Given the description of an element on the screen output the (x, y) to click on. 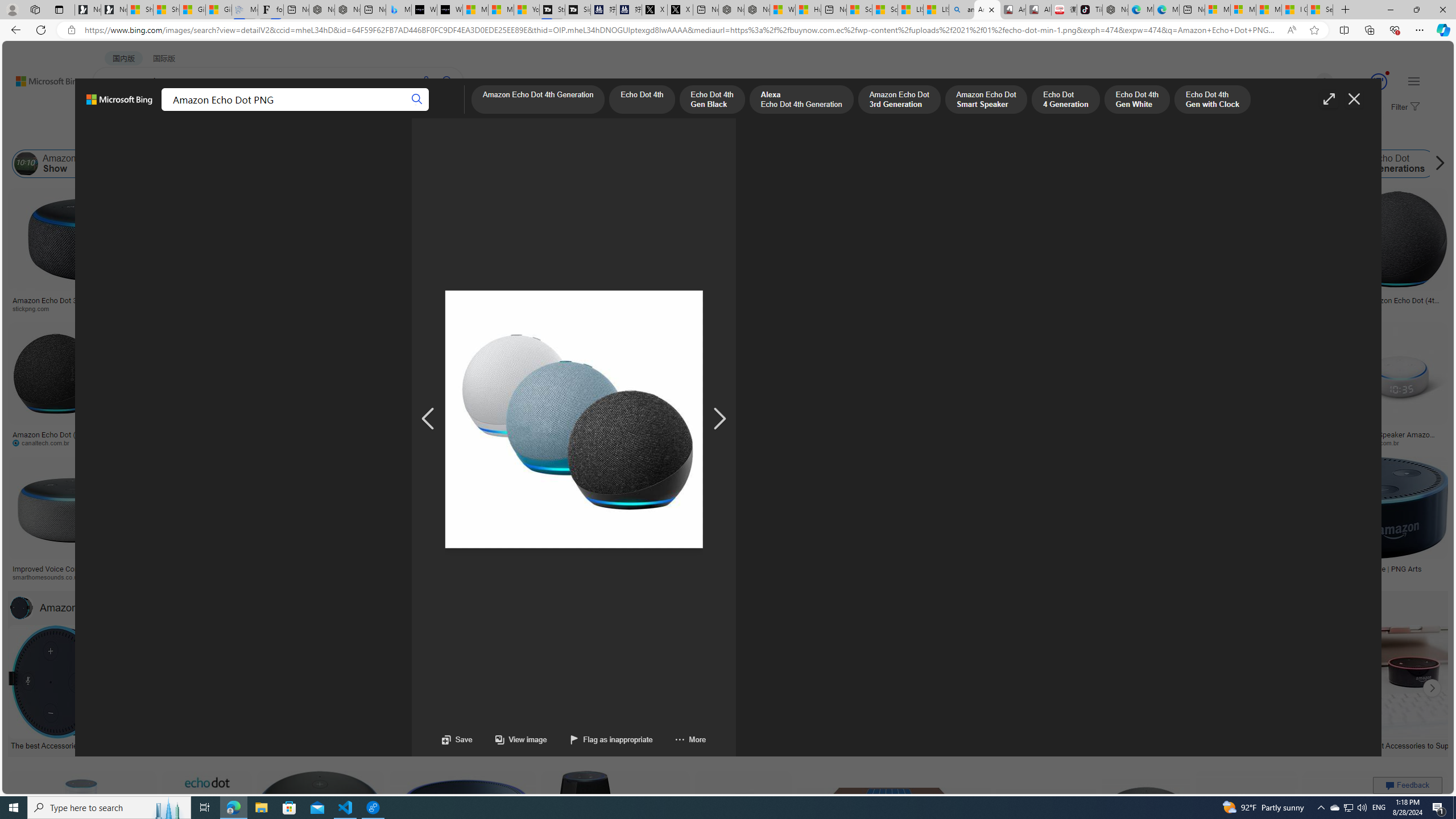
Echo Dot Generations (1388, 163)
mediamarkt.es (674, 576)
Best Amazon Echo Accessories - Tech Advisor (304, 744)
